Given the description of an element on the screen output the (x, y) to click on. 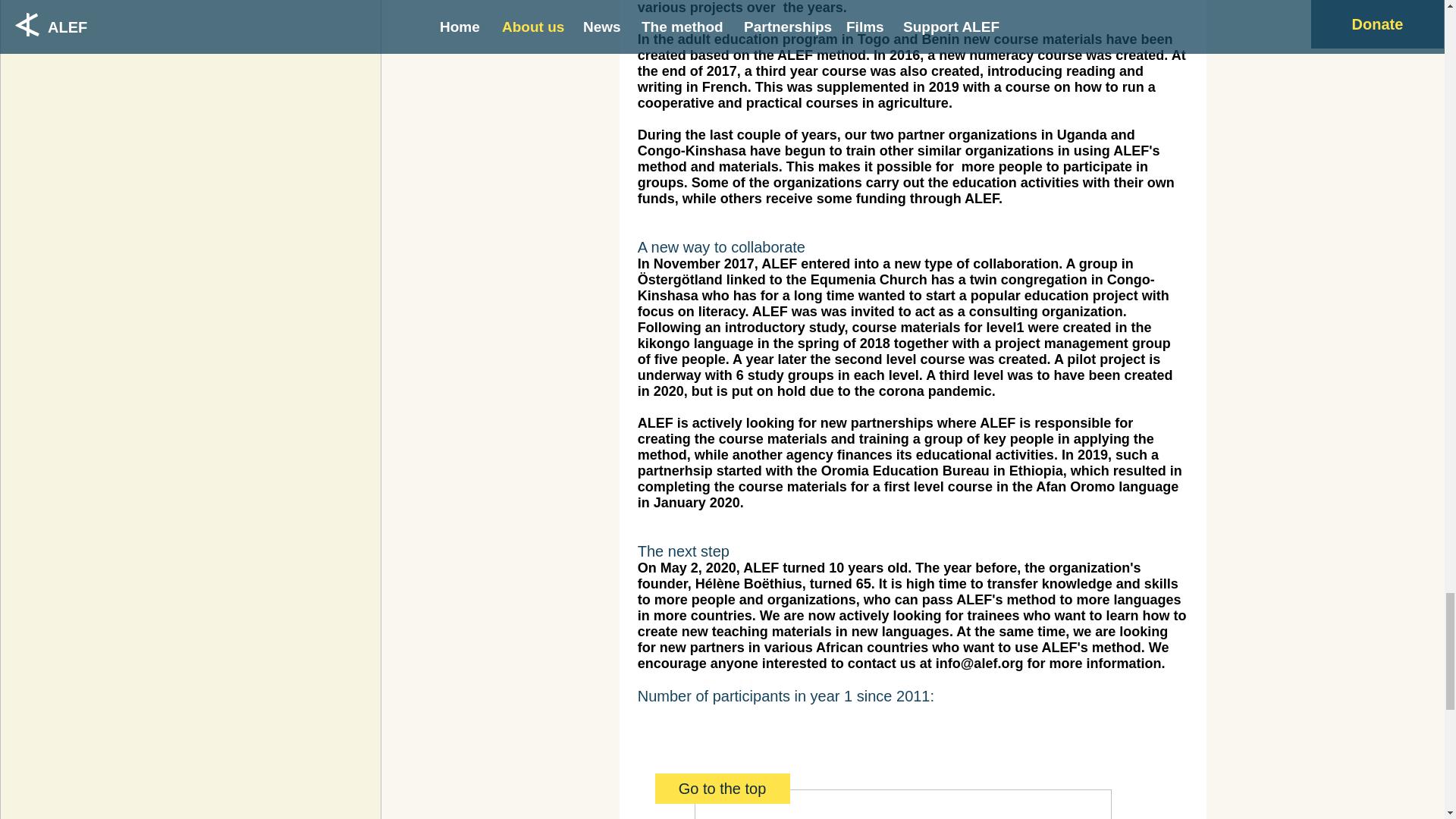
Chart (903, 804)
